Given the description of an element on the screen output the (x, y) to click on. 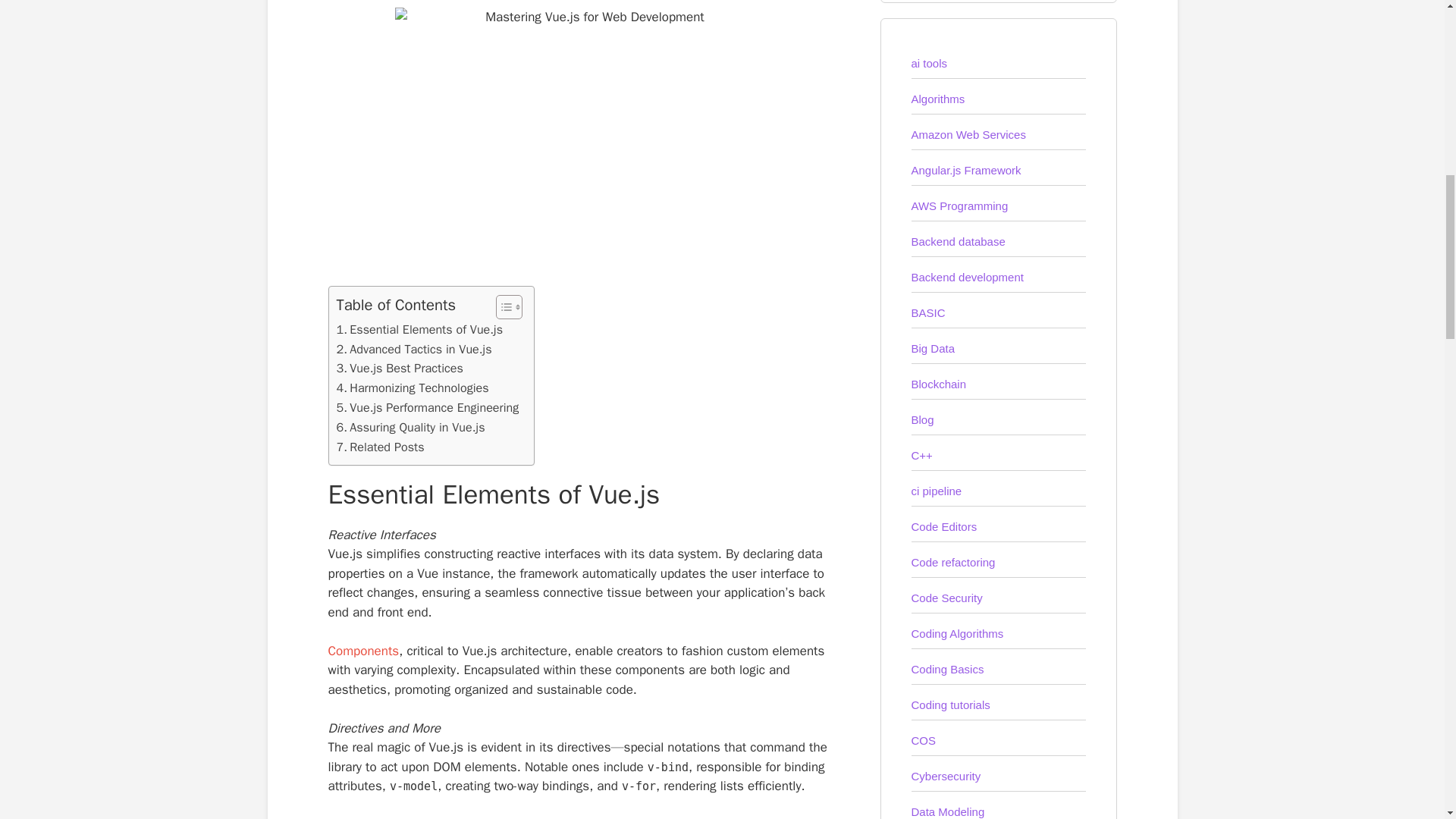
Essential Elements of Vue.js (419, 329)
Essential Elements of Vue.js (419, 329)
Harmonizing Technologies (412, 388)
Assuring Quality in Vue.js (410, 427)
Vue.js Performance Engineering (427, 407)
Vue.js Best Practices (399, 368)
Assuring Quality in Vue.js (410, 427)
Vue.js Best Practices (399, 368)
Advanced Tactics in Vue.js (414, 349)
Advanced Tactics in Vue.js (414, 349)
Harmonizing Technologies (412, 388)
Related Posts (380, 447)
Components (362, 650)
Vue.js Performance Engineering (427, 407)
Scroll back to top (1406, 720)
